Given the description of an element on the screen output the (x, y) to click on. 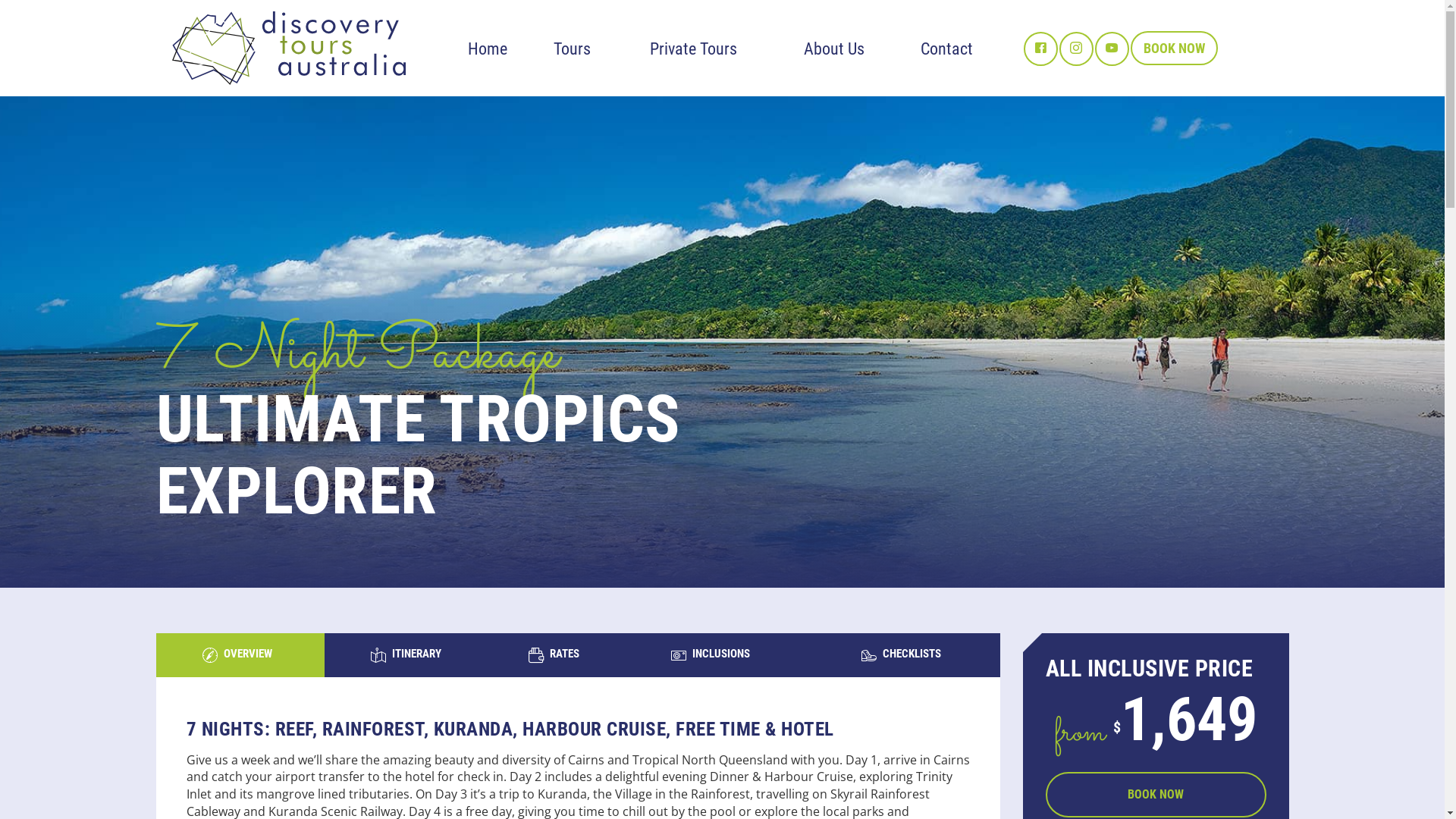
Home Element type: text (486, 48)
Contact Element type: text (945, 48)
BOOK NOW Element type: text (1173, 48)
BOOK NOW Element type: text (1154, 794)
Tours Element type: text (571, 48)
About Us Element type: text (833, 48)
Private Tours Element type: text (693, 48)
